Given the description of an element on the screen output the (x, y) to click on. 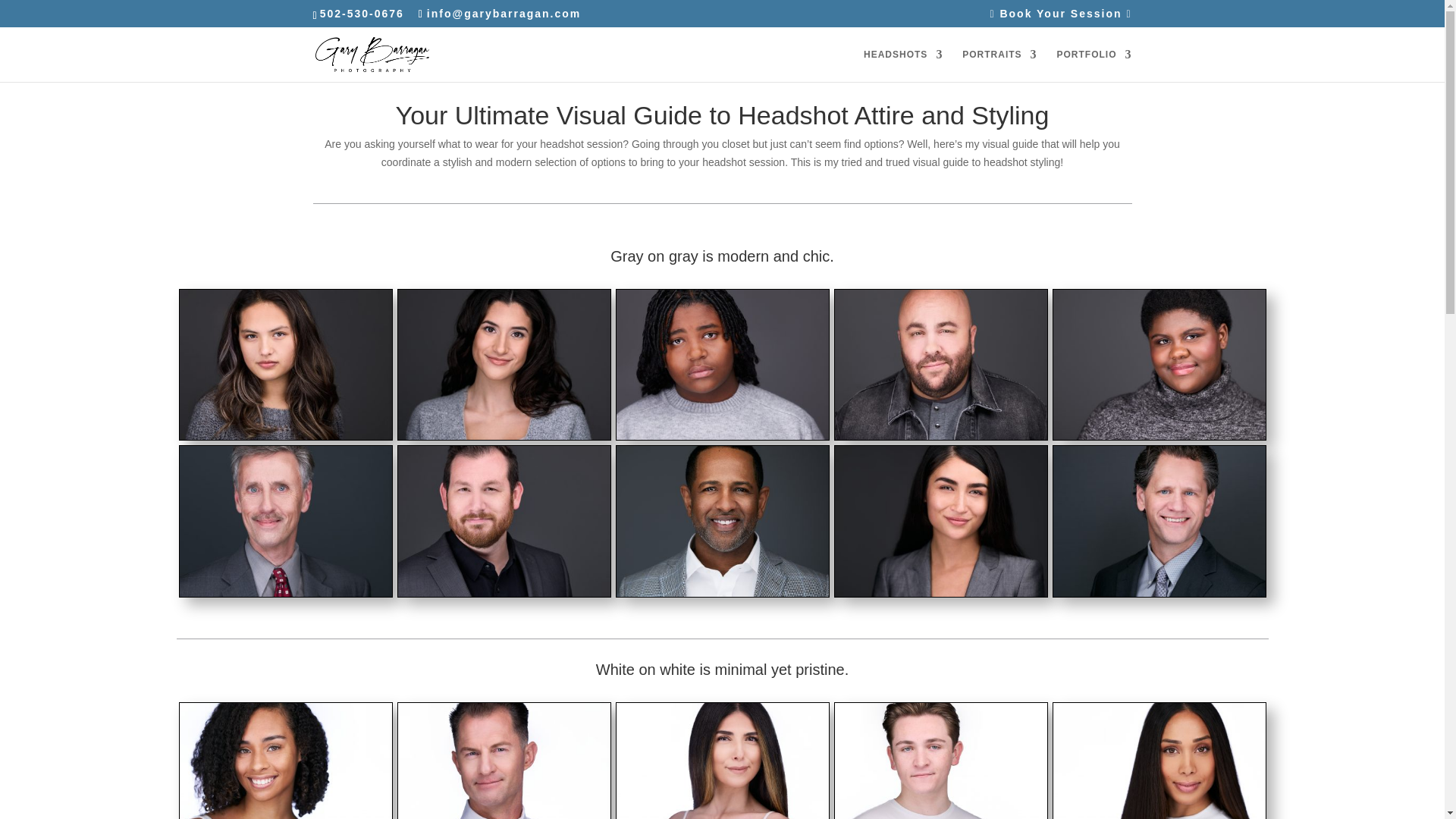
Theatrical Headshots for YPAS Louisville KY (285, 435)
Corporate Headshots for Executives (940, 592)
502-530-0676 (362, 13)
Headshots by Gary Barragan Photography (503, 592)
Business Headshots by Gary Barragan Photography (285, 592)
Headshots by Gary Barragan Photography (721, 435)
Headshots by Gary Barragan Photography (1158, 435)
HEADSHOTS (902, 65)
Headshots by Gary Barragan (503, 435)
PORTFOLIO (1094, 65)
PORTRAITS (999, 65)
